Given the description of an element on the screen output the (x, y) to click on. 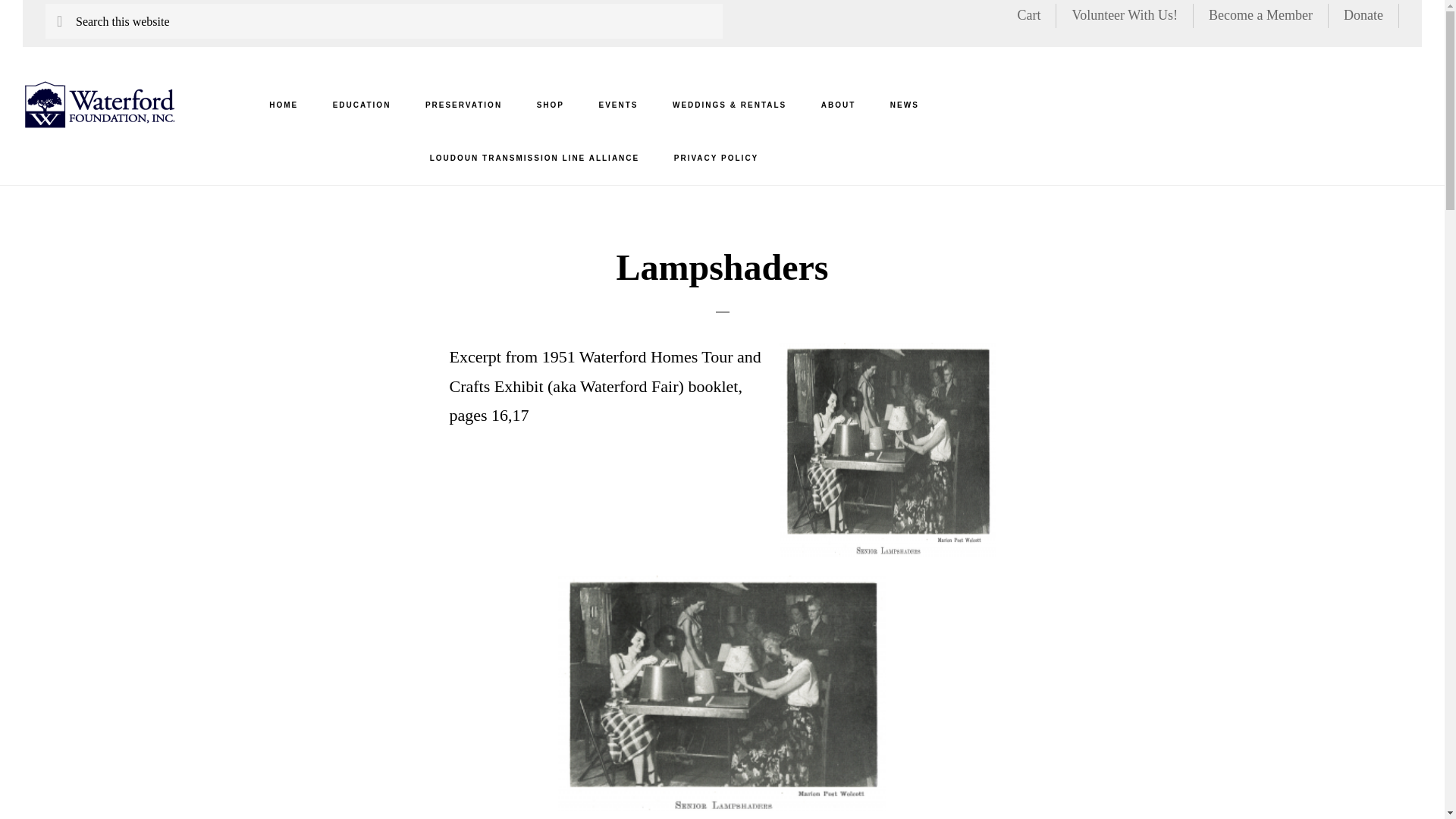
EVENTS (617, 104)
Volunteer With Us! (1125, 15)
SHOP (550, 104)
PRESERVATION (463, 104)
Become a Member (1260, 15)
Cart (1029, 15)
WATERFORD FOUNDATION (98, 102)
Donate (1363, 15)
HOME (283, 104)
EDUCATION (361, 104)
ABOUT (838, 104)
